Given the description of an element on the screen output the (x, y) to click on. 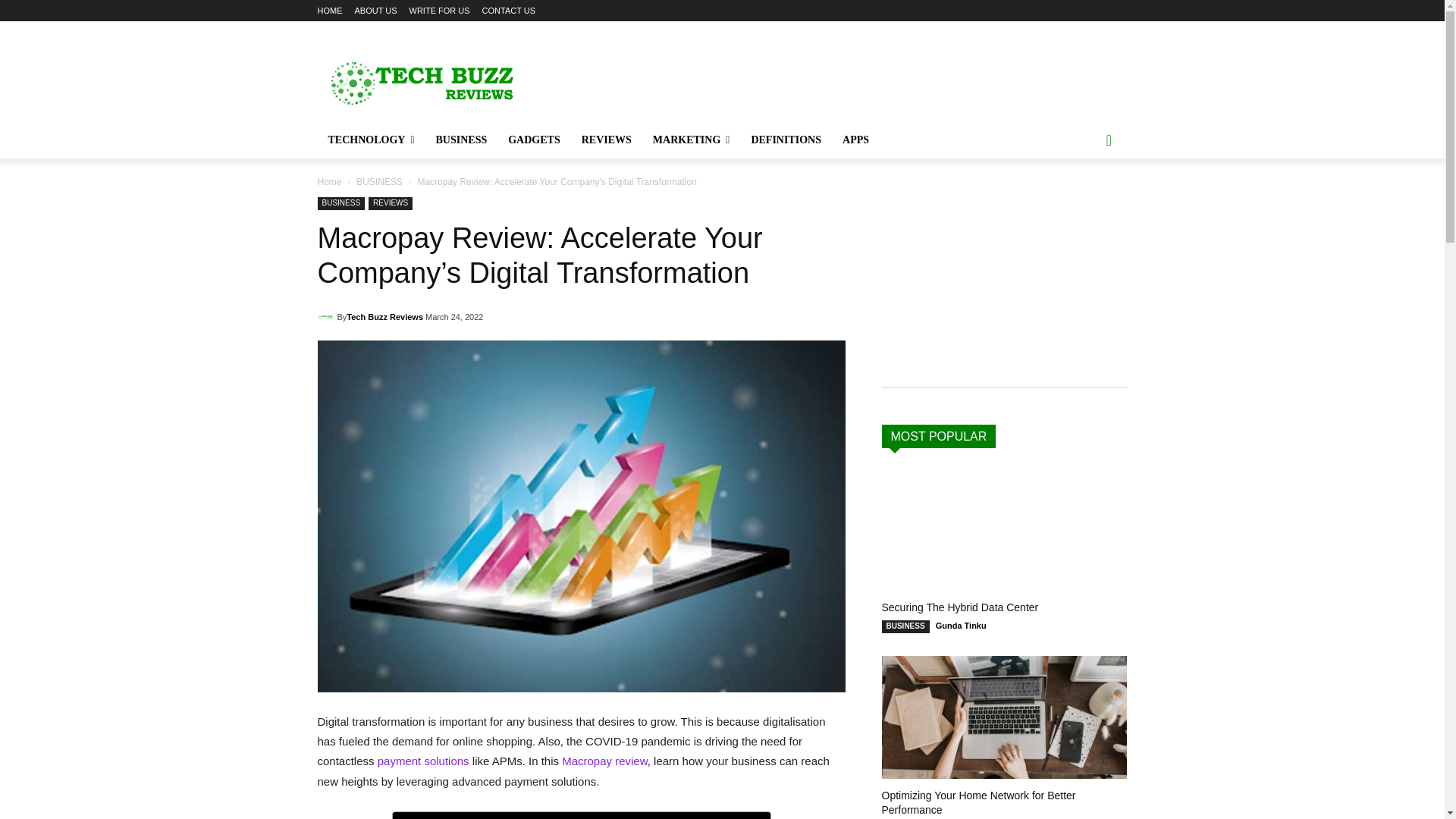
ABOUT US (376, 10)
CONTACT US (508, 10)
MARKETING (691, 140)
APPS (855, 140)
REVIEWS (606, 140)
Advertisement (846, 76)
WRITE FOR US (439, 10)
HOME (329, 10)
BUSINESS (461, 140)
